Given the description of an element on the screen output the (x, y) to click on. 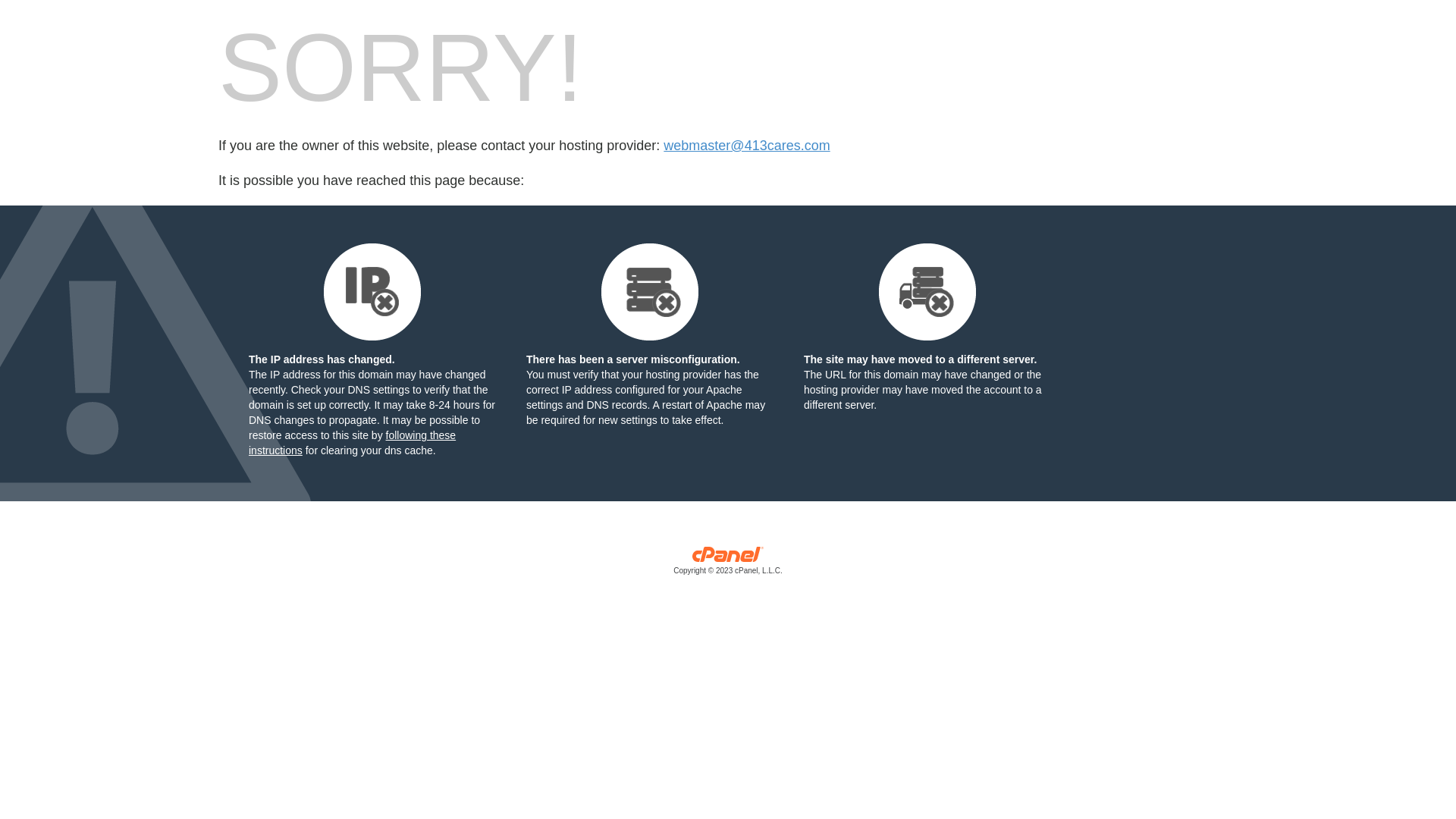
webmaster@413cares.com Element type: text (746, 145)
following these instructions Element type: text (351, 442)
